Given the description of an element on the screen output the (x, y) to click on. 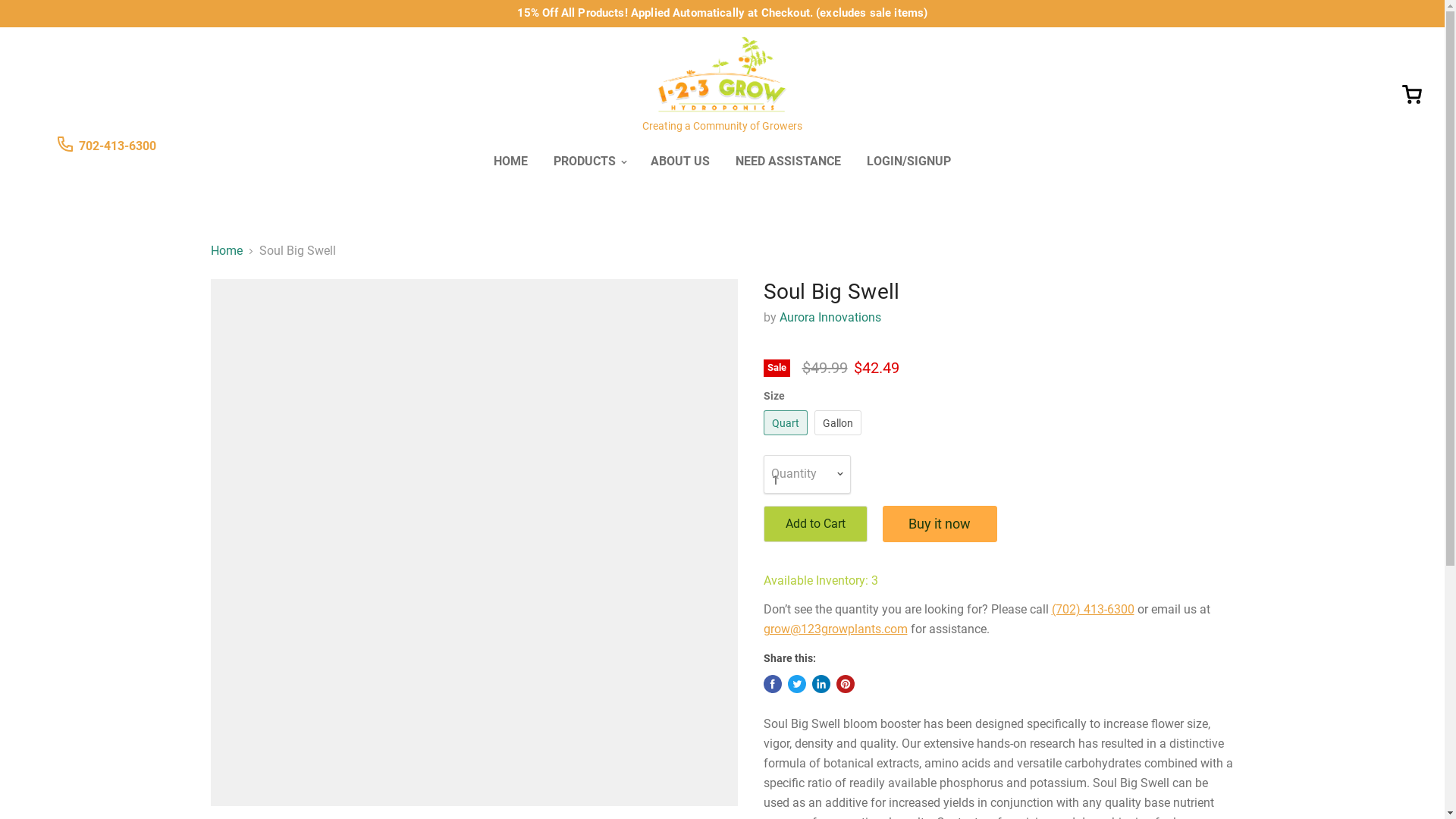
HOME Element type: text (510, 161)
Pin on Pinterest Element type: text (844, 683)
ABOUT US Element type: text (680, 161)
Buy it now Element type: text (939, 523)
PRODUCTS Element type: text (589, 161)
Share on LinkedIn Element type: text (820, 683)
LOGIN/SIGNUP Element type: text (908, 161)
Aurora Innovations Element type: text (830, 317)
Home Element type: text (226, 250)
Tweet on Twitter Element type: text (796, 683)
Creating a Community of Growers Element type: text (722, 83)
(702) 413-6300 Element type: text (1092, 609)
VIEW CART Element type: text (1411, 90)
NEED ASSISTANCE Element type: text (788, 161)
Add to Cart Element type: text (814, 523)
grow@123growplants.com Element type: text (834, 628)
Share on Facebook Element type: text (771, 683)
